Given the description of an element on the screen output the (x, y) to click on. 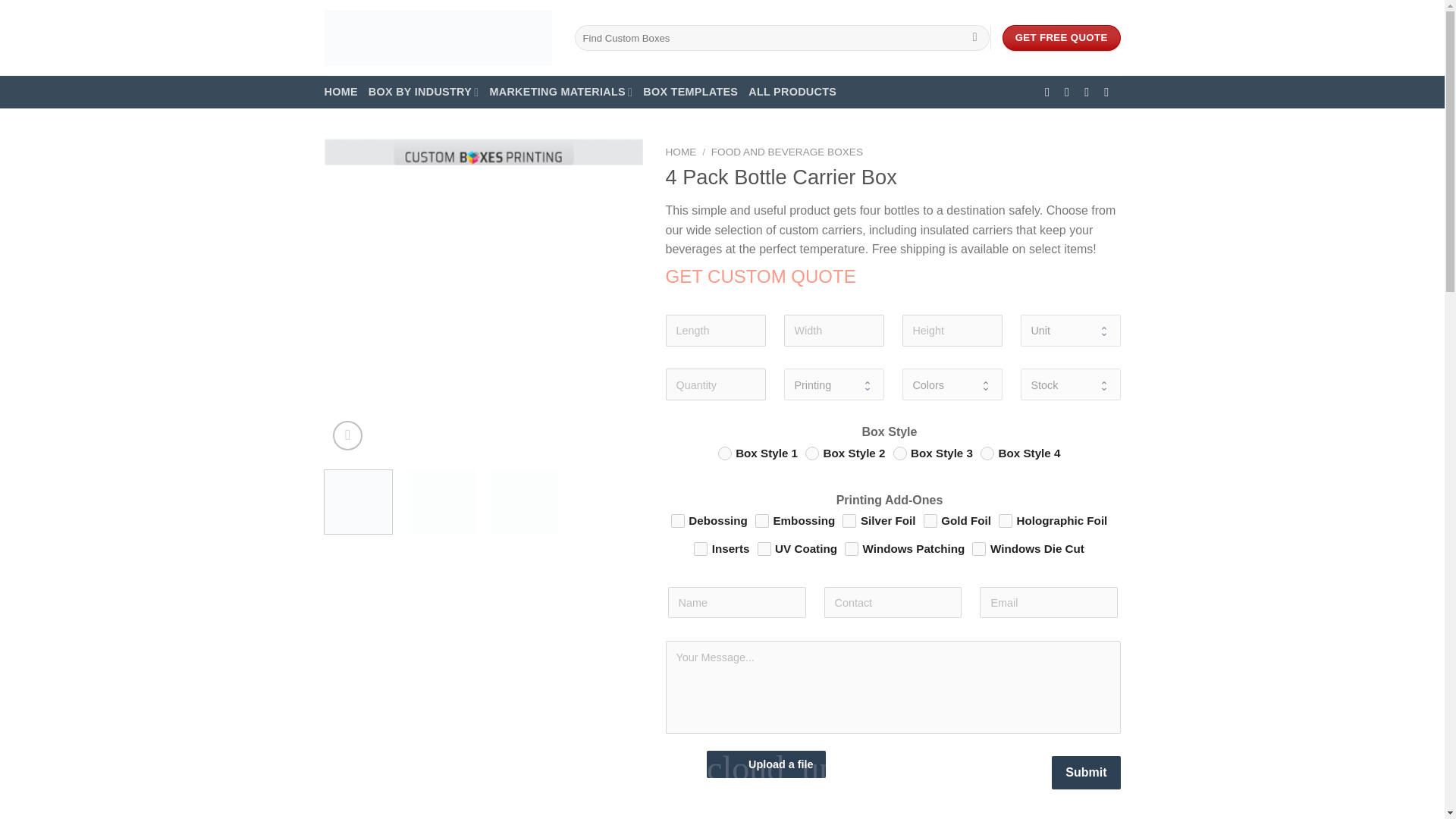
Box Style 2 (811, 453)
Windows Patching (851, 549)
Gold Foil (930, 520)
Box Style 3 (900, 453)
Windows Die Cut (978, 549)
Follow on Pinterest (1109, 91)
Debossing (677, 520)
GET FREE QUOTE (1062, 37)
HOME (341, 92)
Search (974, 37)
Box Style 4 (986, 453)
Custom Packaging Boxes (437, 37)
Box Style 1 (724, 453)
UV Coating (763, 549)
Zoom (347, 435)
